Given the description of an element on the screen output the (x, y) to click on. 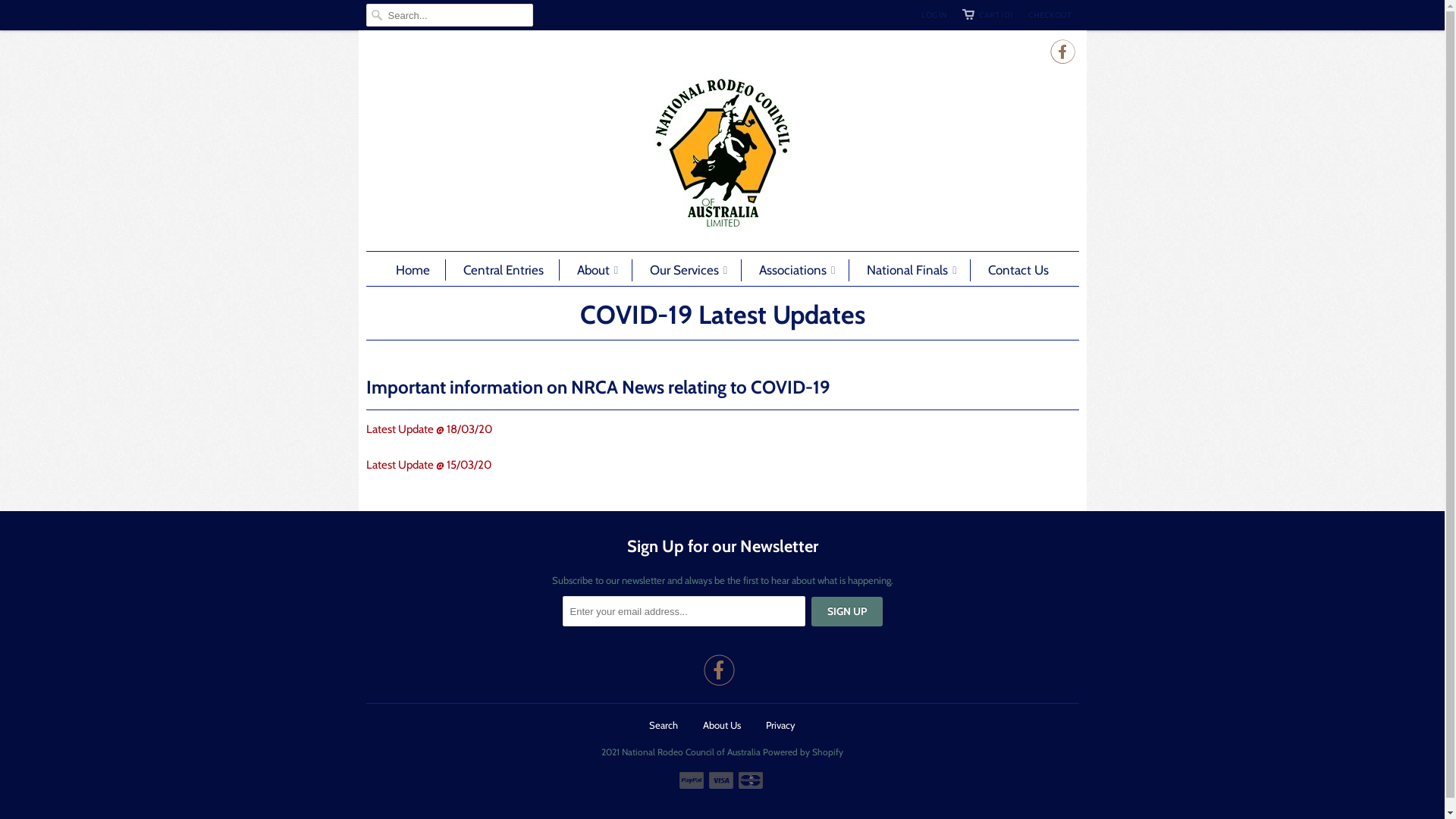
Search Element type: text (663, 724)
Central Entries Element type: text (503, 269)
National Rodeo Council of Australia Element type: hover (721, 152)
CART (0) Element type: text (986, 14)
About Us Element type: text (721, 724)
Home Element type: text (412, 269)
Latest Update @ 15/03/20 Element type: text (427, 464)
Latest Update @ 18/03/20 Element type: text (428, 429)
Powered by Shopify Element type: text (802, 747)
Sign Up Element type: text (846, 611)
CHECKOUT Element type: text (1049, 14)
Contact Us Element type: text (1018, 269)
LOG IN Element type: text (933, 14)
Privacy Element type: text (780, 724)
